Given the description of an element on the screen output the (x, y) to click on. 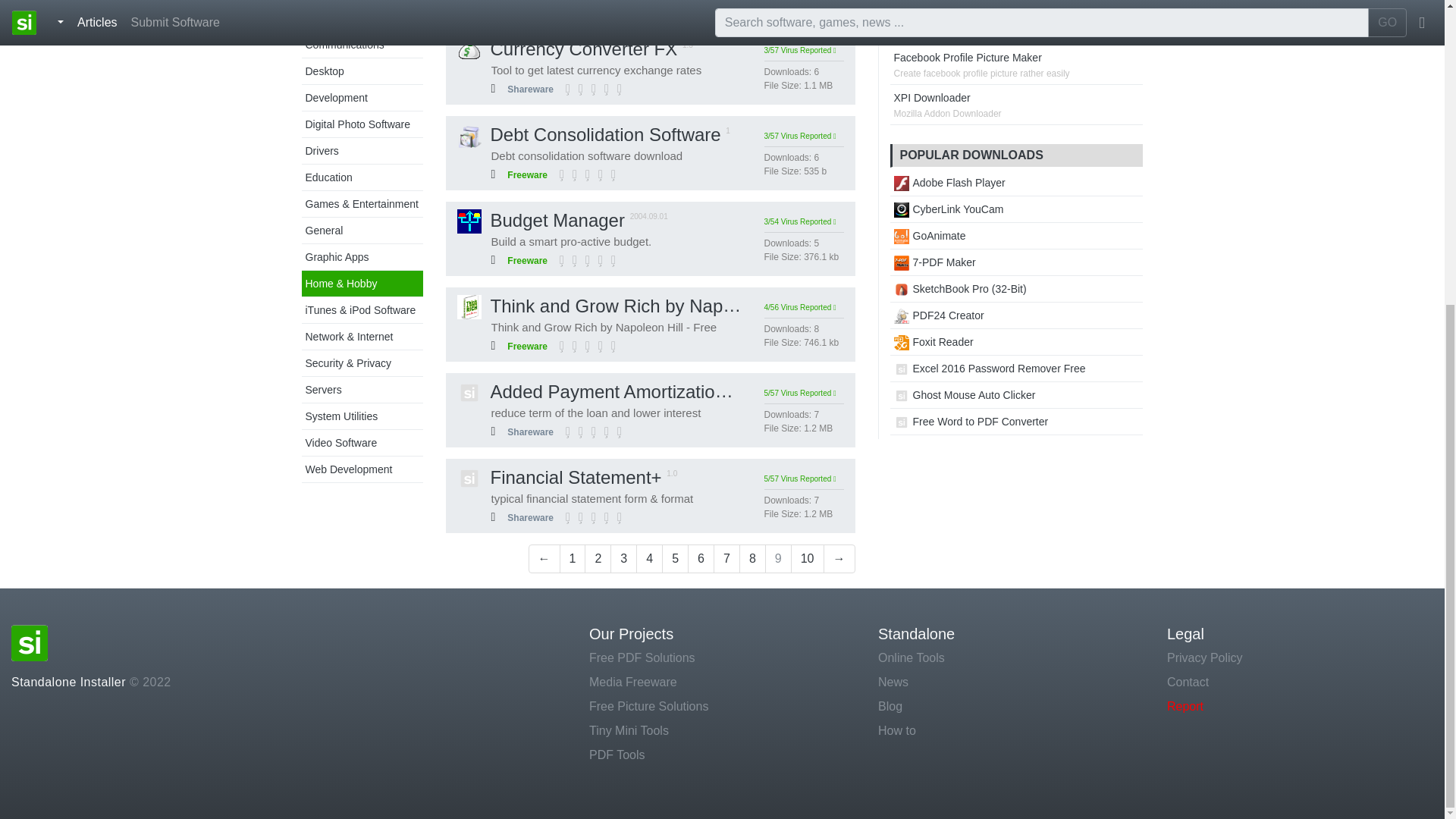
Drivers (320, 150)
Communications (344, 44)
Development (336, 97)
Education (328, 177)
Desktop (323, 70)
Business (325, 18)
Digital Photo Software (357, 123)
